Given the description of an element on the screen output the (x, y) to click on. 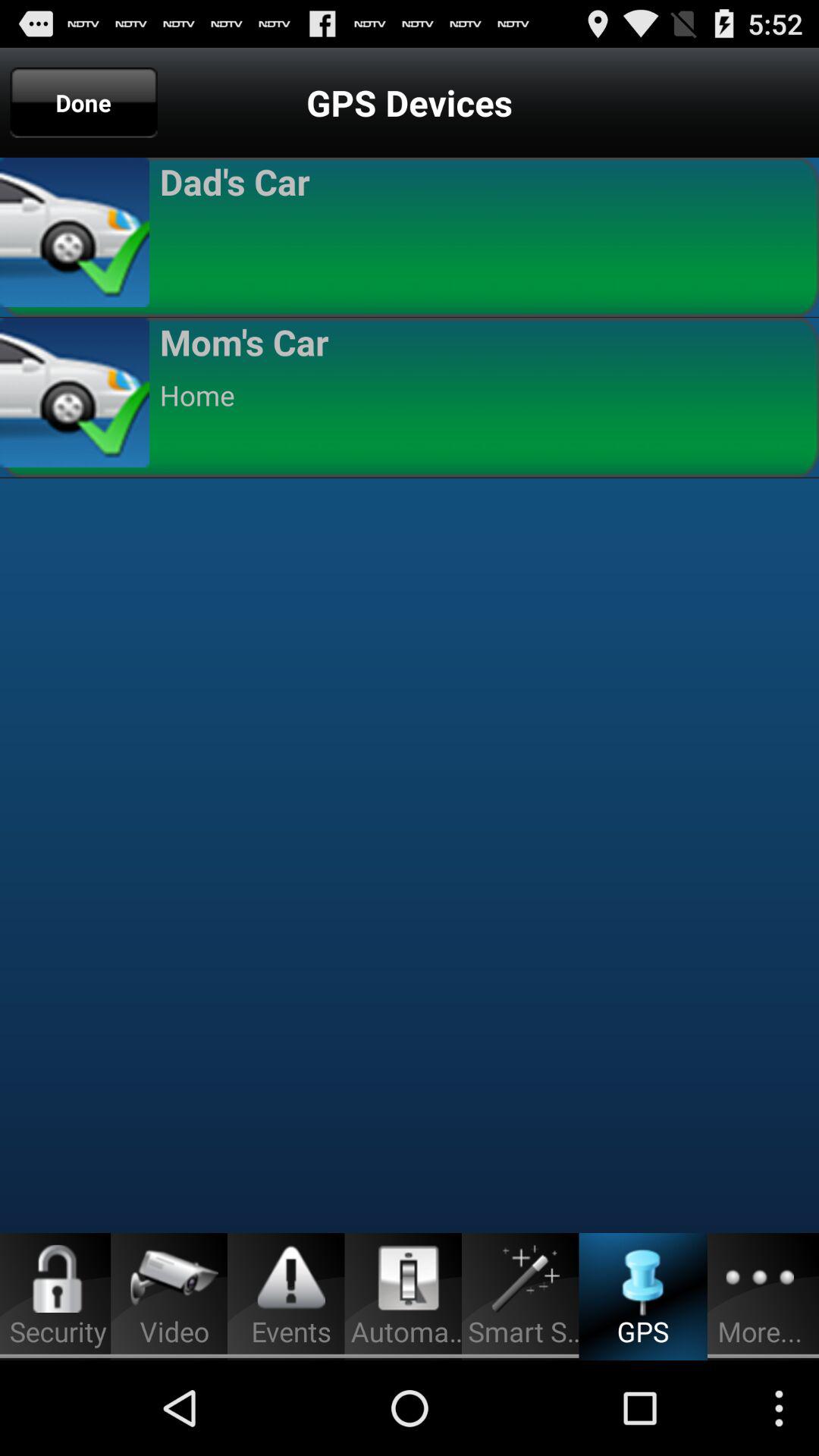
tap the item above the mom's car icon (481, 234)
